Given the description of an element on the screen output the (x, y) to click on. 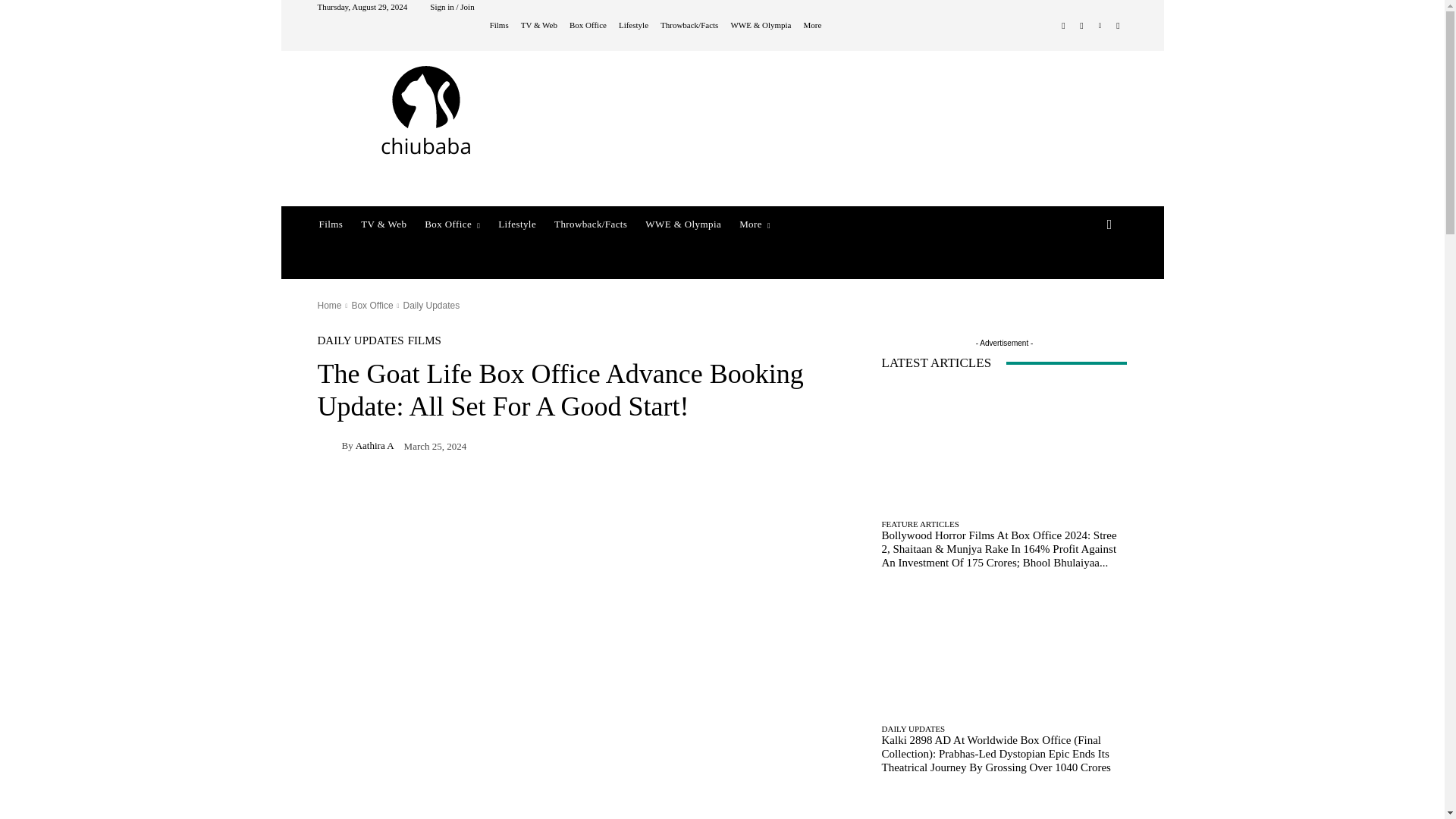
Lifestyle (632, 25)
Box Office (588, 25)
Instagram (1080, 25)
Twitter (1117, 25)
More (812, 25)
Films (498, 25)
Facebook (1062, 25)
Pinterest (1099, 25)
